Given the description of an element on the screen output the (x, y) to click on. 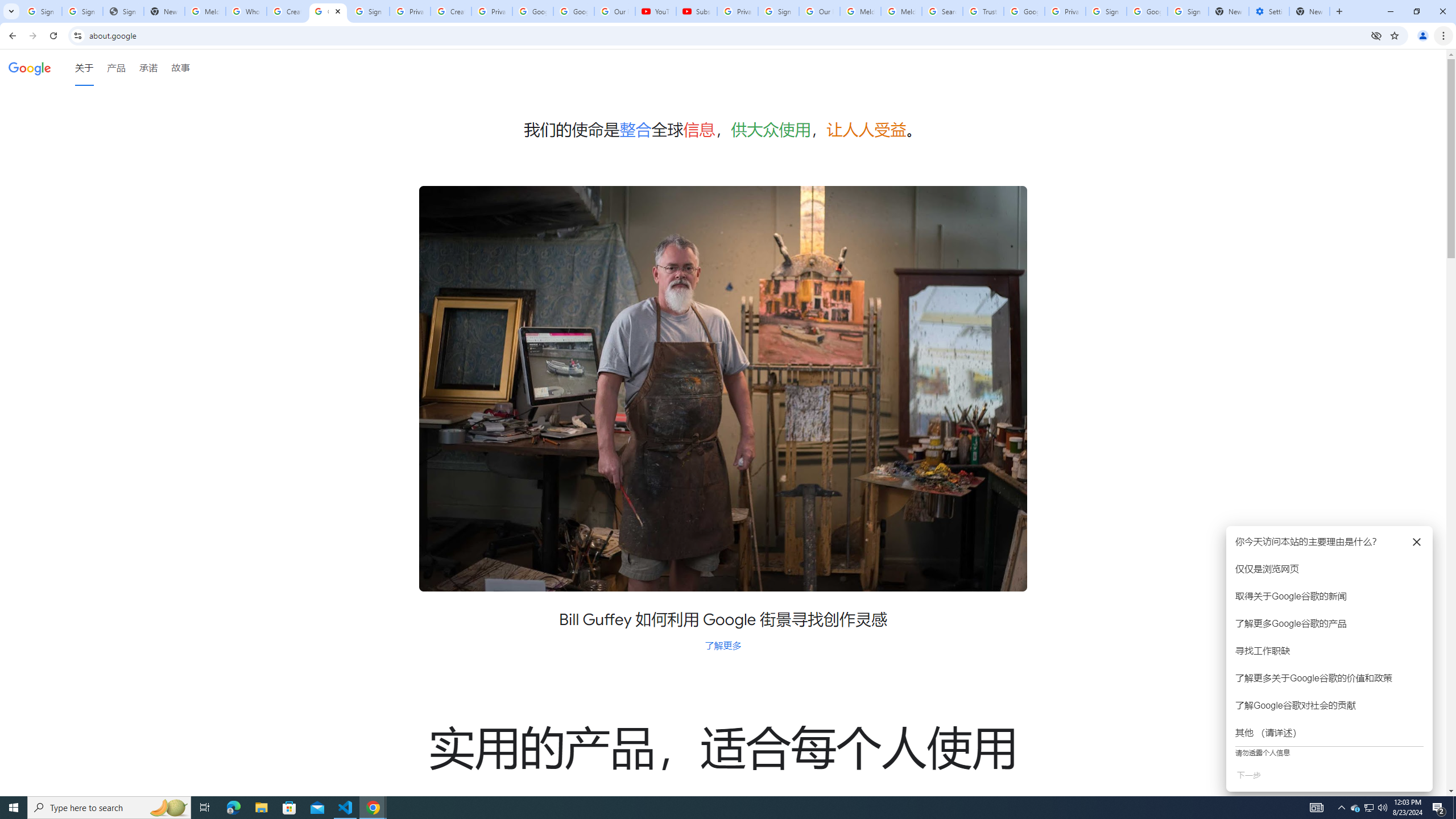
Sign in - Google Accounts (1105, 11)
Search our Doodle Library Collection - Google Doodles (942, 11)
Sign In - USA TODAY (122, 11)
Google (29, 67)
